Given the description of an element on the screen output the (x, y) to click on. 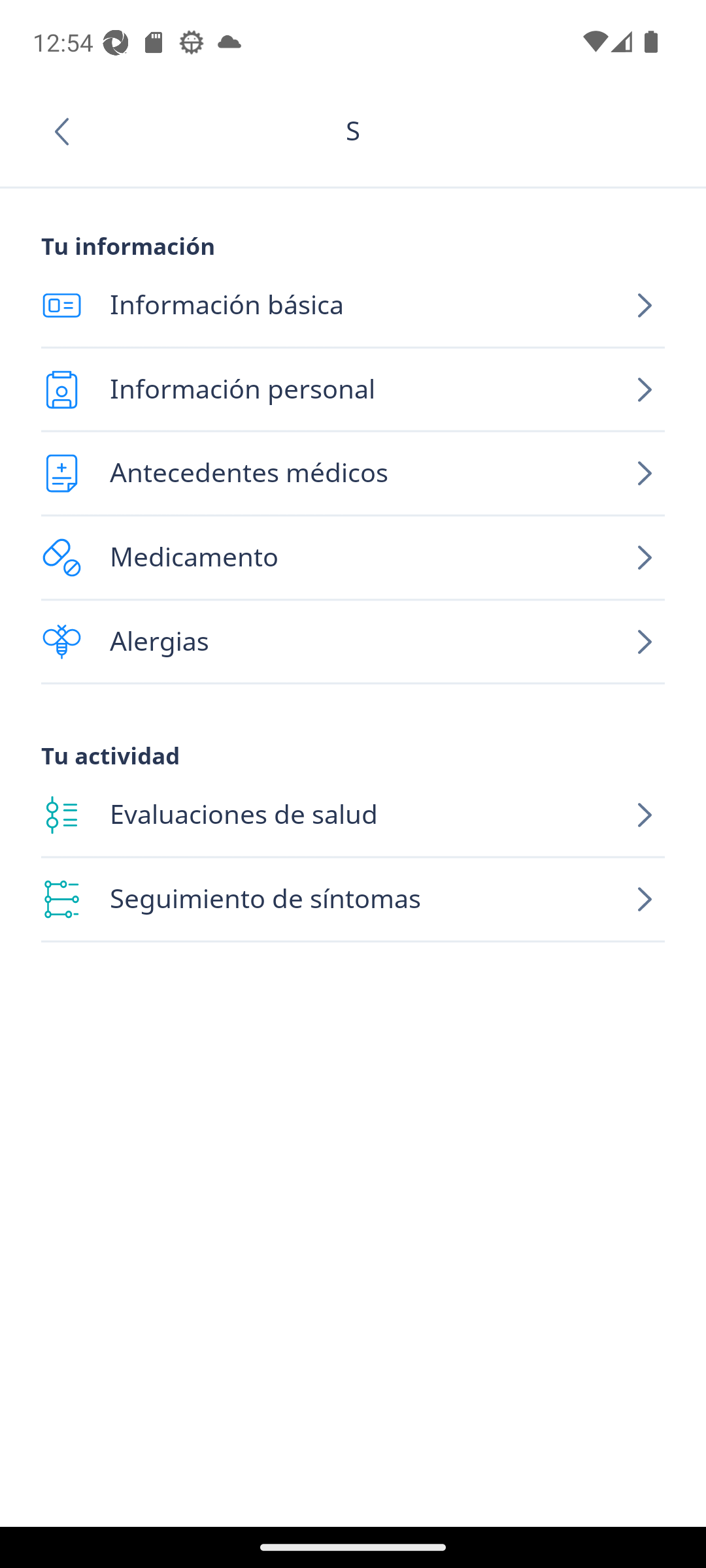
Go back, Navigates to the previous screen (68, 131)
Información básica (352, 305)
Información personal (352, 389)
Antecedentes médicos (352, 473)
Medicamento (352, 557)
Alergias (352, 641)
Evaluaciones de salud (352, 815)
Seguimiento de síntomas (352, 899)
